Given the description of an element on the screen output the (x, y) to click on. 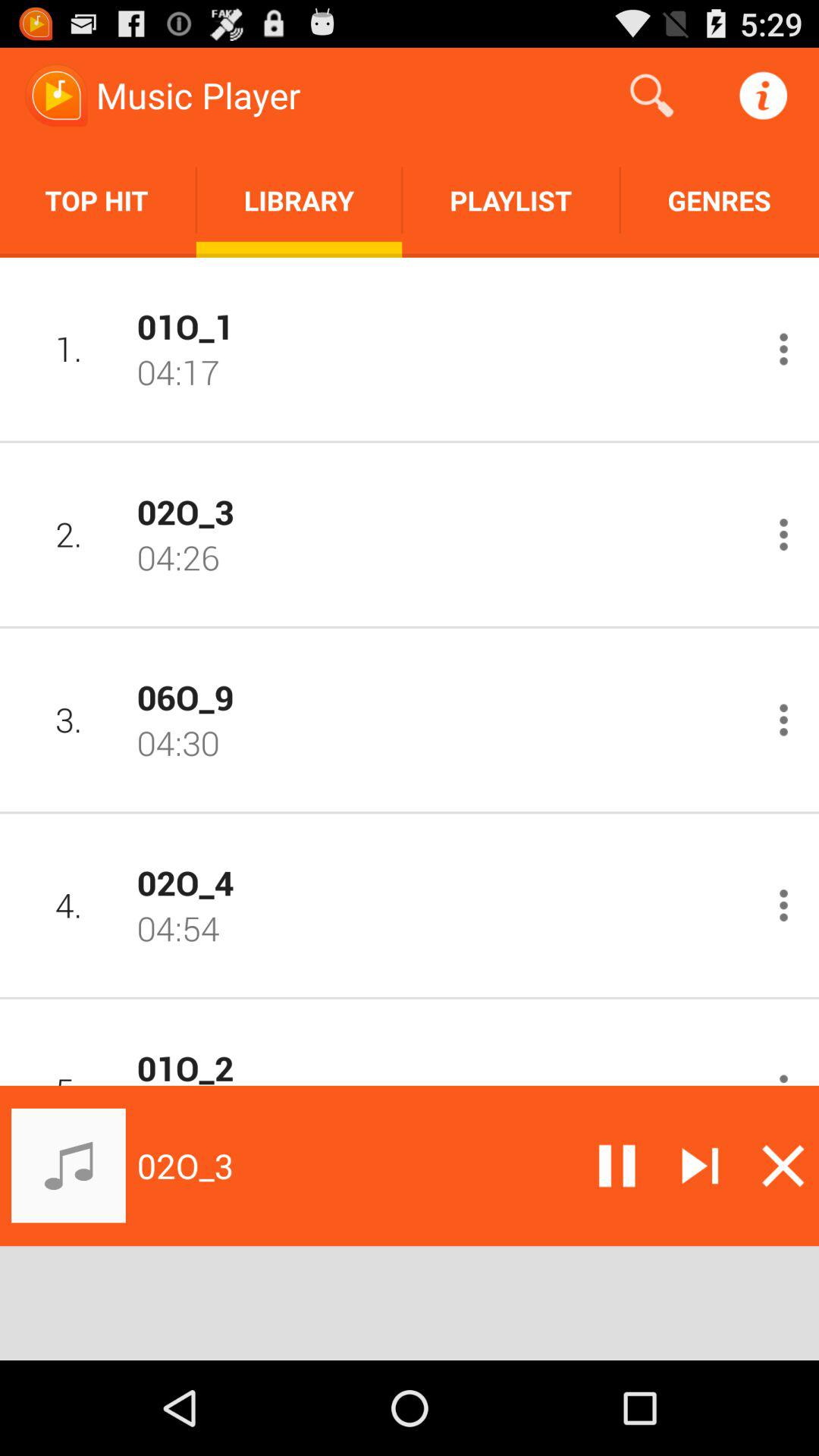
pause current playing (616, 1165)
